Given the description of an element on the screen output the (x, y) to click on. 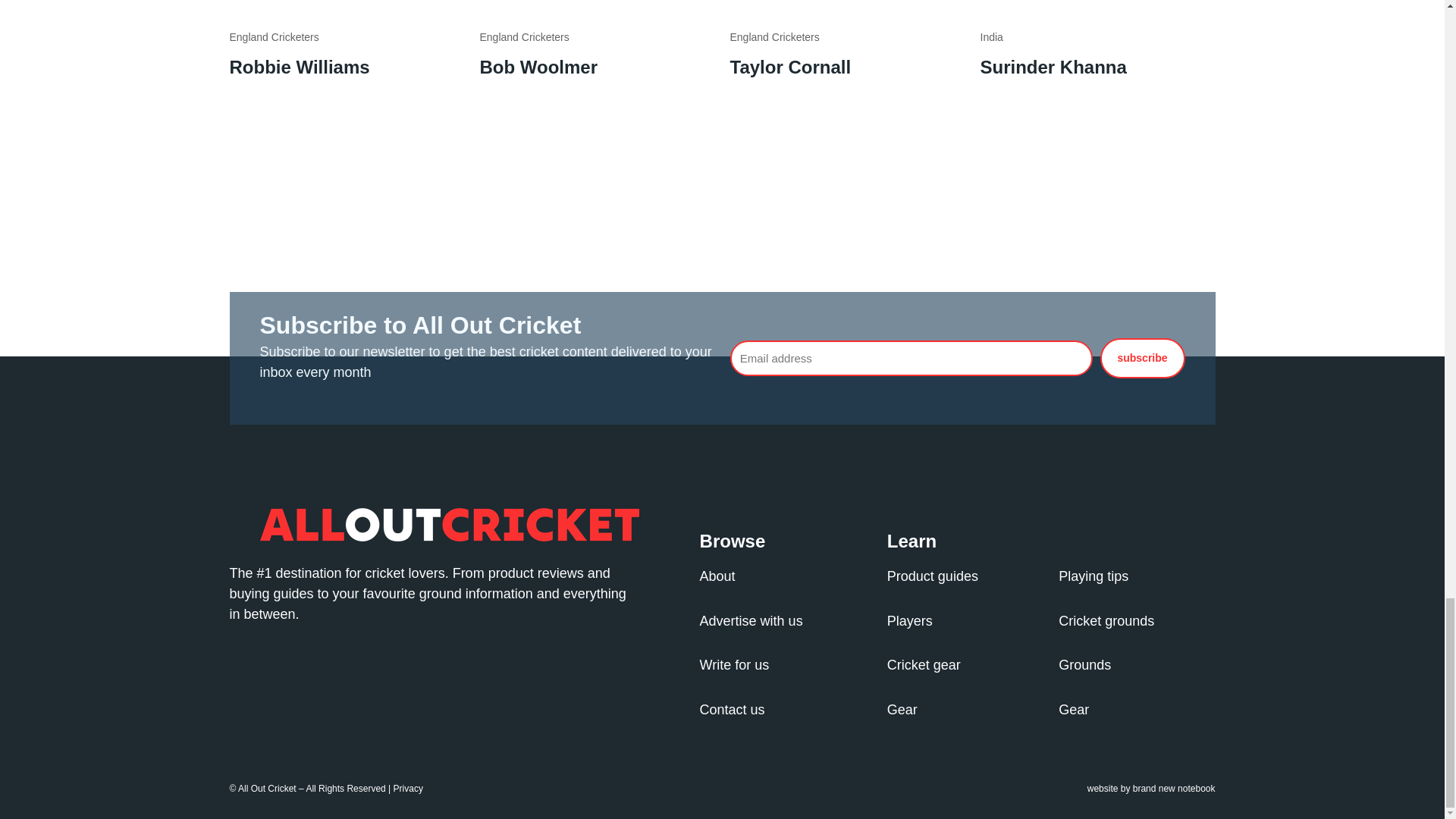
England Cricketers (773, 37)
Robbie Williams (298, 66)
subscribe (1142, 358)
Taylor Cornall (789, 66)
Surinder Khanna (1052, 66)
England Cricketers (273, 37)
Bob Woolmer (537, 66)
England Cricketers (524, 37)
India (991, 37)
